Given the description of an element on the screen output the (x, y) to click on. 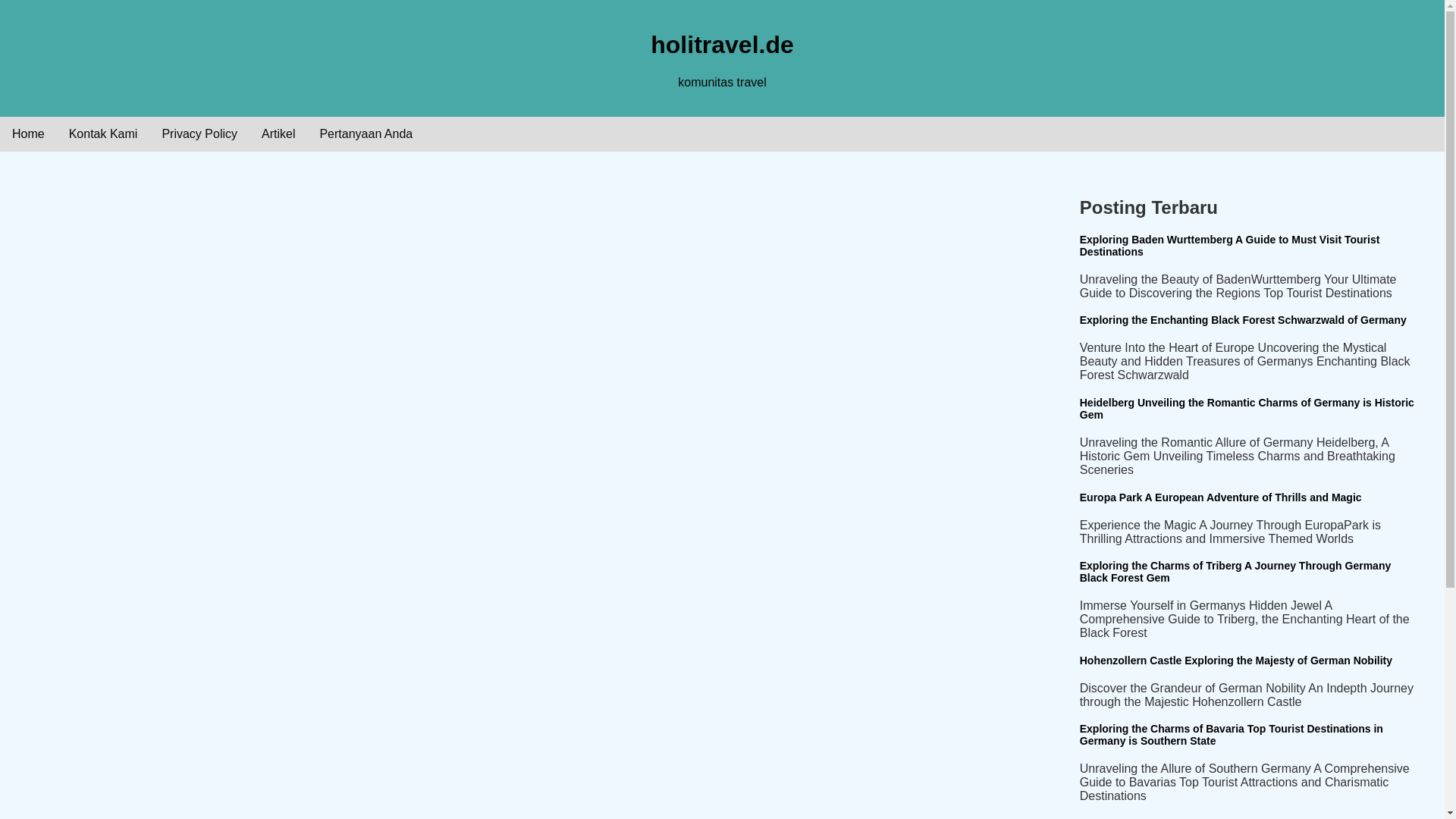
Home (28, 134)
Kontak Kami (102, 134)
Privacy Policy (198, 134)
Exploring the Enchanting Black Forest Schwarzwald of Germany (1243, 319)
Hohenzollern Castle Exploring the Majesty of German Nobility (1235, 660)
Europa Park A European Adventure of Thrills and Magic (1220, 497)
holitravel.de (721, 44)
Artikel (277, 134)
Pertanyaan Anda (366, 134)
